Given the description of an element on the screen output the (x, y) to click on. 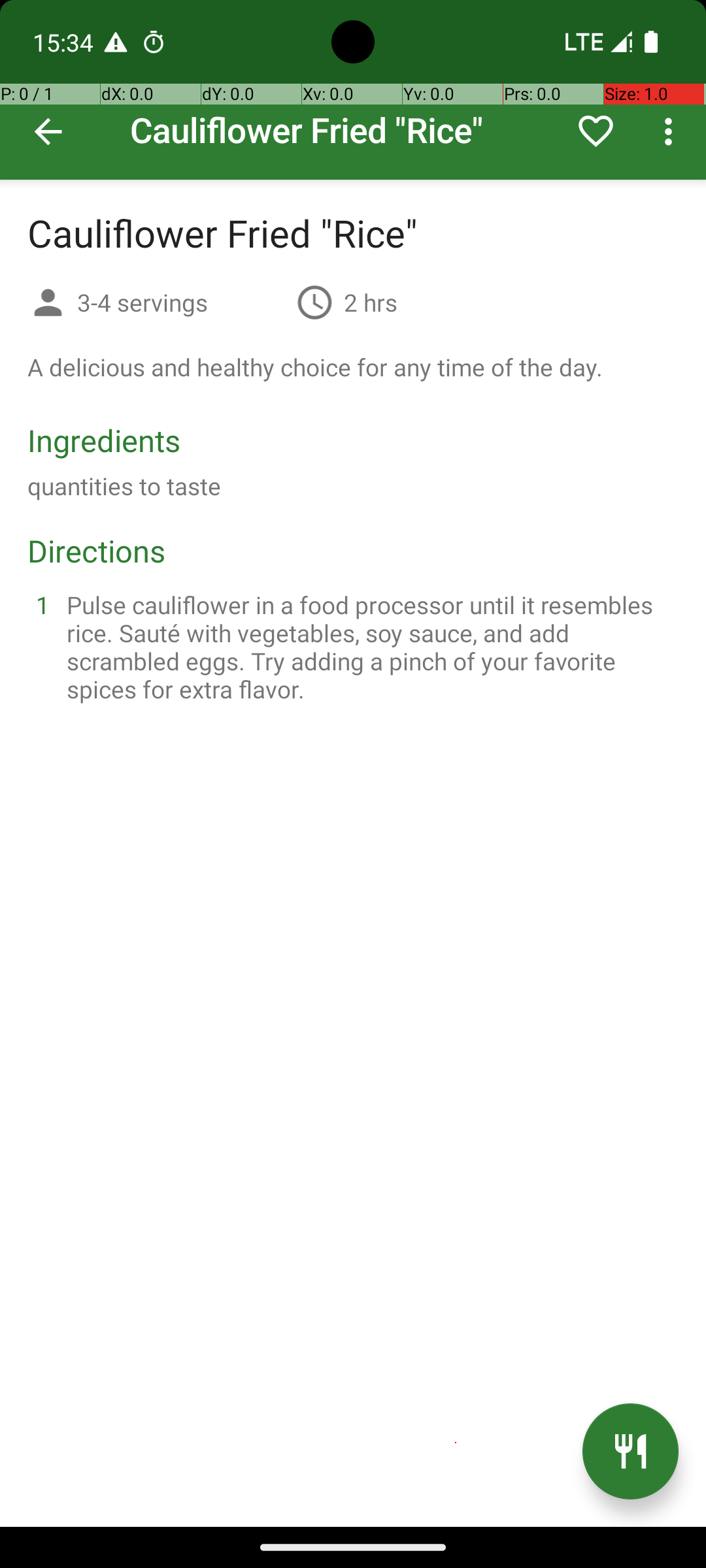
2 hrs Element type: android.widget.TextView (370, 301)
Pulse cauliflower in a food processor until it resembles rice. Sauté with vegetables, soy sauce, and add scrambled eggs. Try adding a pinch of your favorite spices for extra flavor. Element type: android.widget.TextView (368, 646)
